Given the description of an element on the screen output the (x, y) to click on. 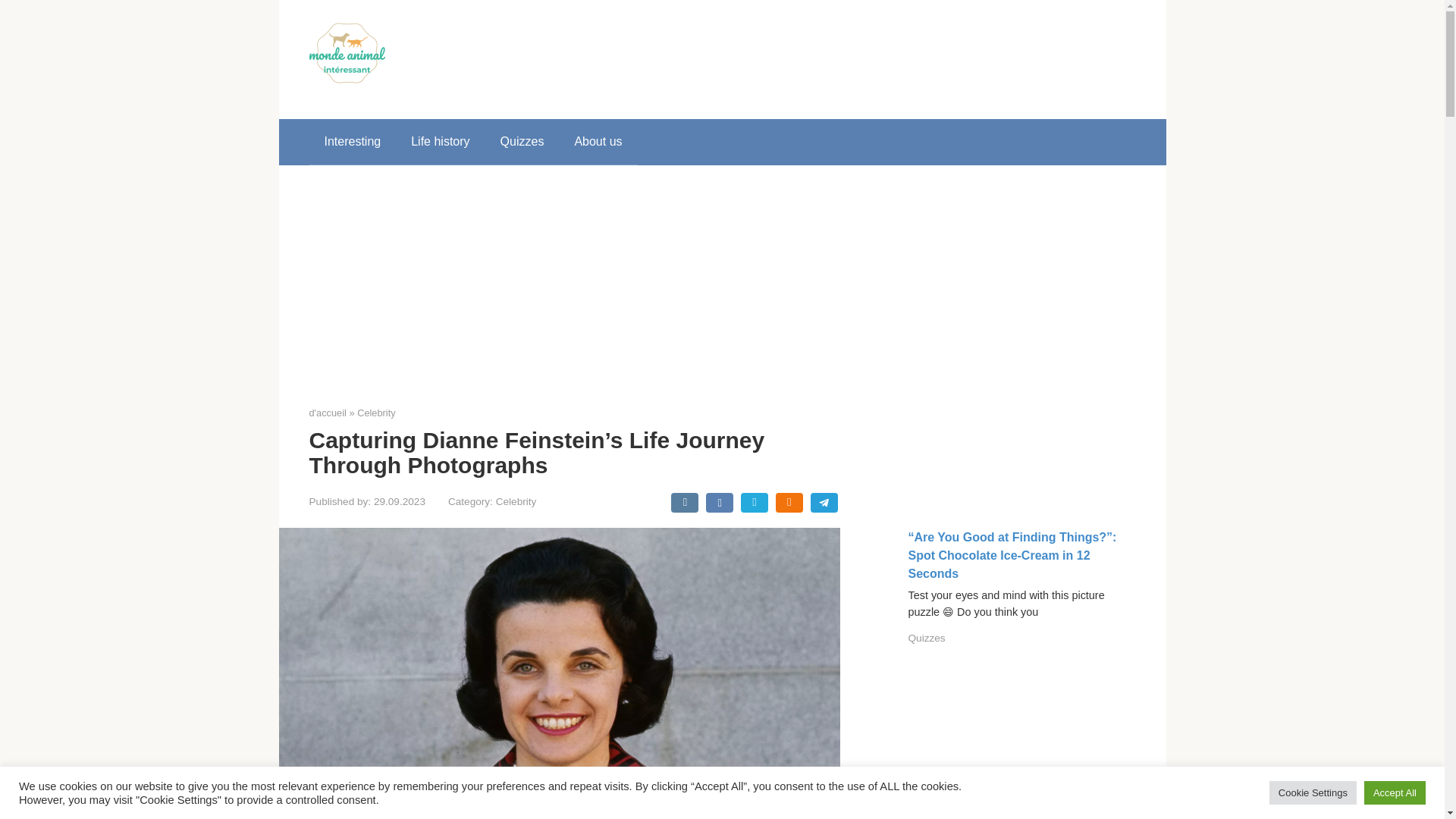
Cookie Settings (1312, 792)
Life history (440, 141)
Quizzes (521, 141)
Interesting (352, 141)
Celebrity (376, 412)
Quizzes (926, 637)
d'accueil (327, 412)
About us (598, 141)
Celebrity (516, 501)
